Given the description of an element on the screen output the (x, y) to click on. 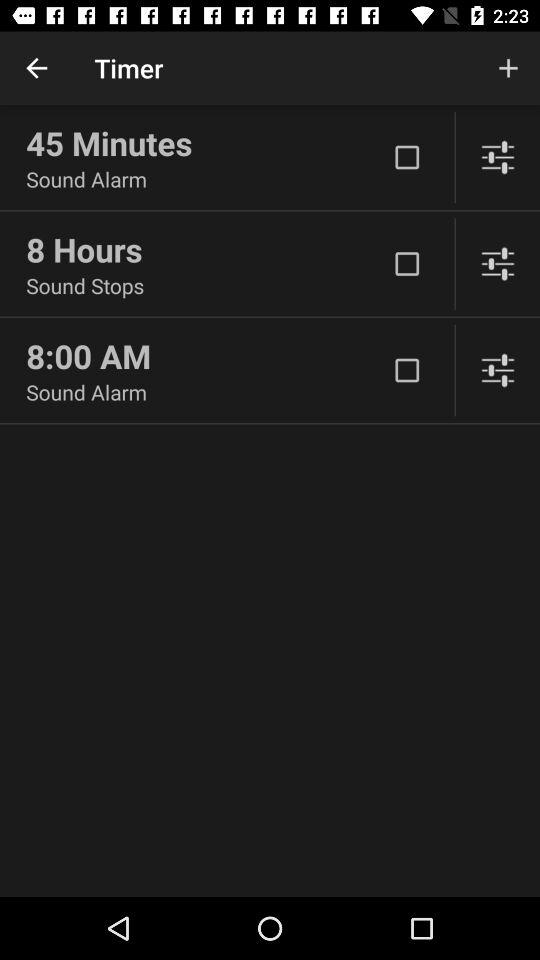
allows you to turn alarm clock on (407, 264)
